Given the description of an element on the screen output the (x, y) to click on. 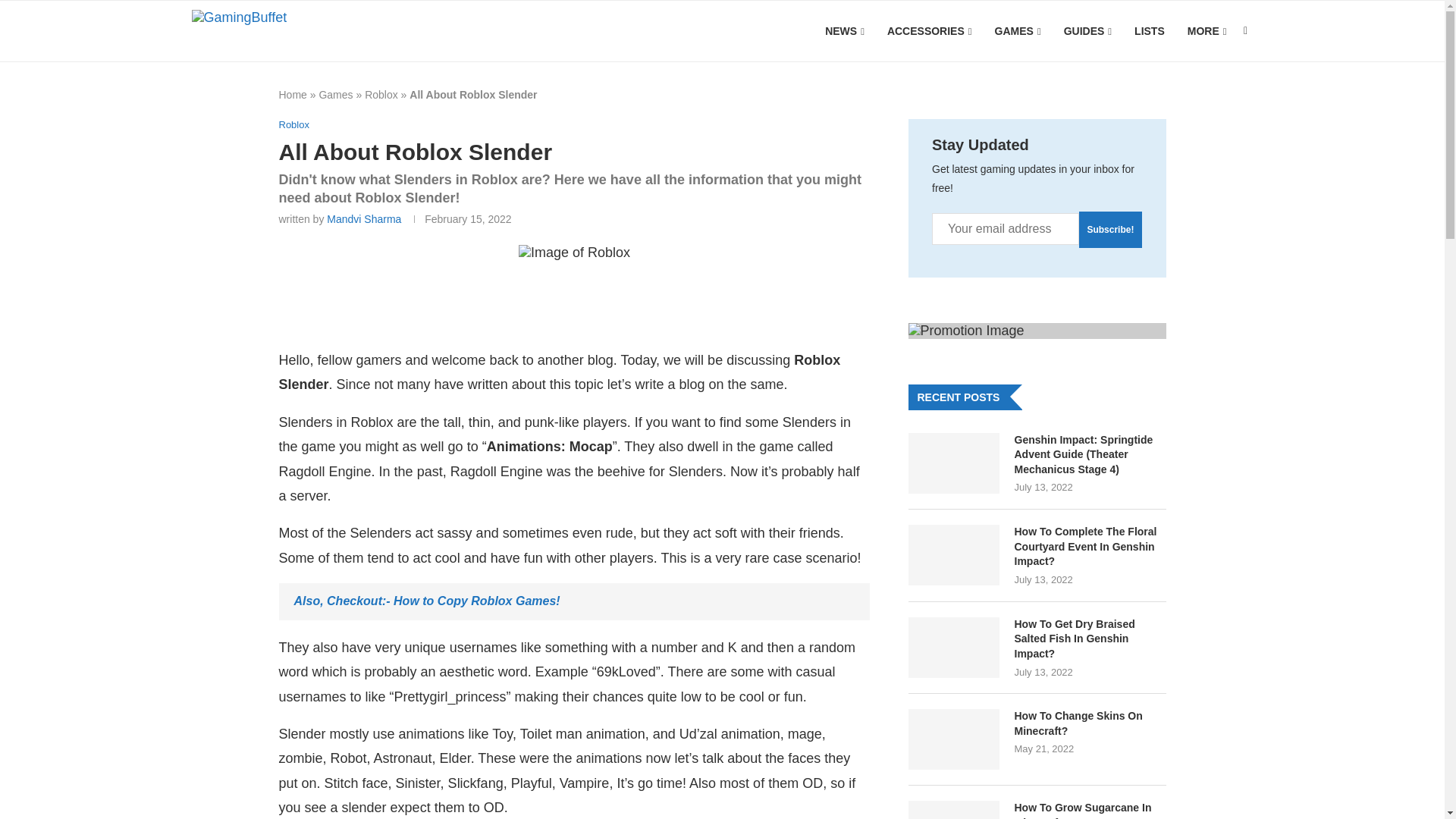
ACCESSORIES (929, 31)
Subscribe! (1109, 229)
